Given the description of an element on the screen output the (x, y) to click on. 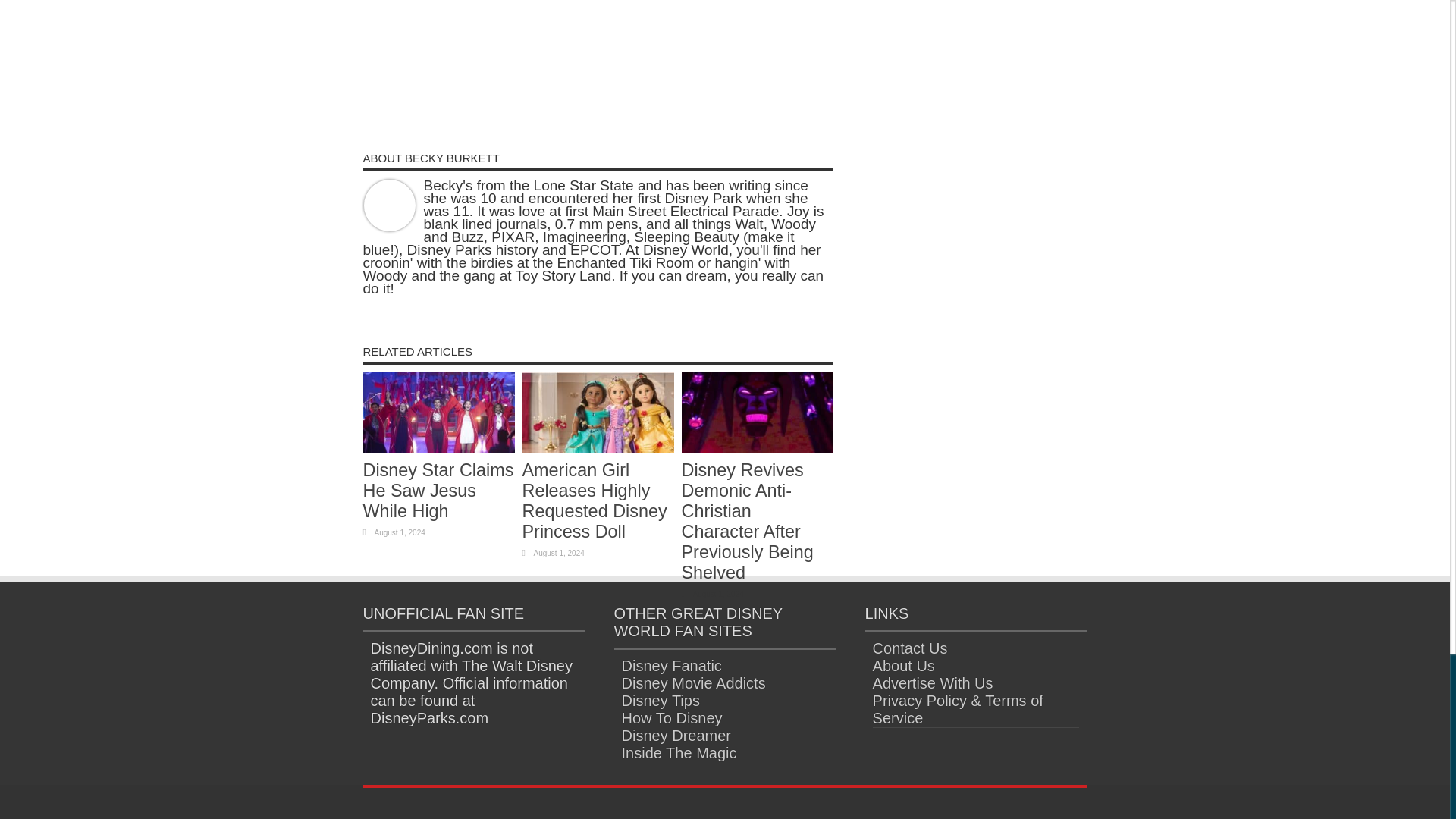
Disney Star Claims He Saw Jesus While High (437, 490)
Permalink to Disney Star Claims He Saw Jesus While High (437, 490)
American Girl Releases Highly Requested Disney Princess Doll (593, 500)
Permalink to Disney Star Claims He Saw Jesus While High (437, 446)
